Given the description of an element on the screen output the (x, y) to click on. 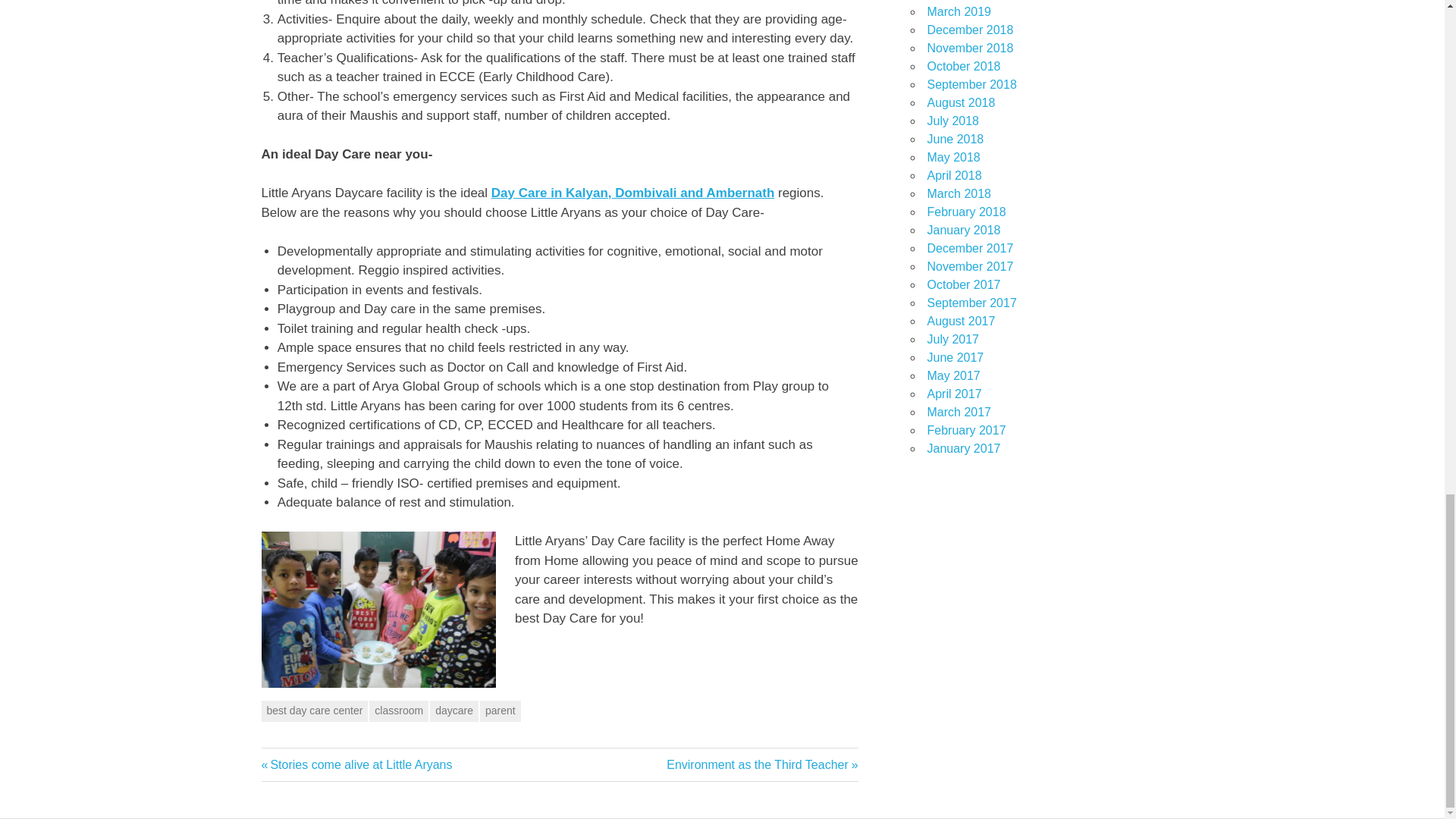
best day care center (314, 711)
parent (500, 711)
Day Care in Kalyan, Dombivali and Ambernath (633, 192)
classroom (398, 711)
daycare (355, 764)
